Given the description of an element on the screen output the (x, y) to click on. 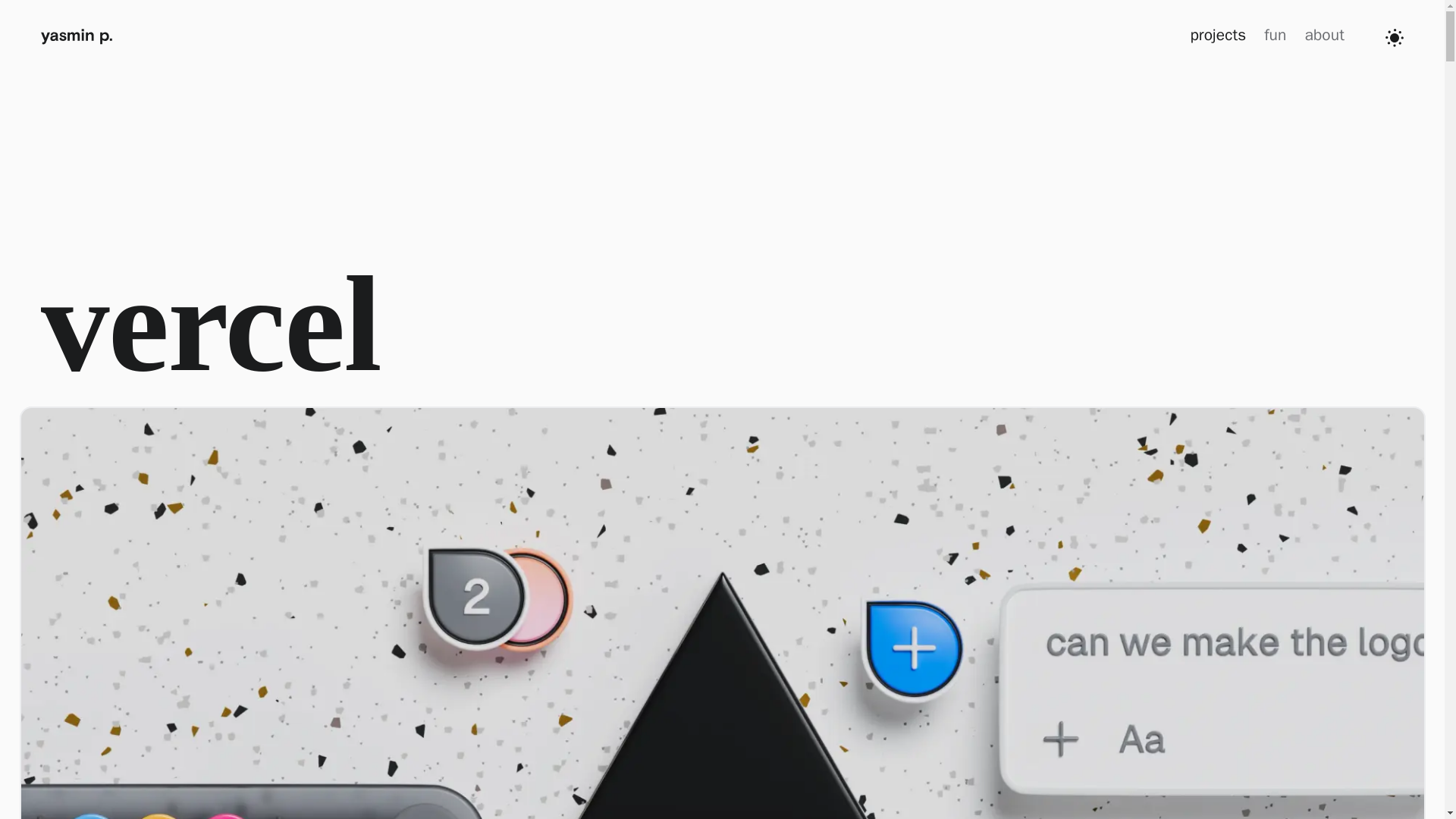
about (1323, 35)
fun (1274, 35)
projects (1217, 35)
